Given the description of an element on the screen output the (x, y) to click on. 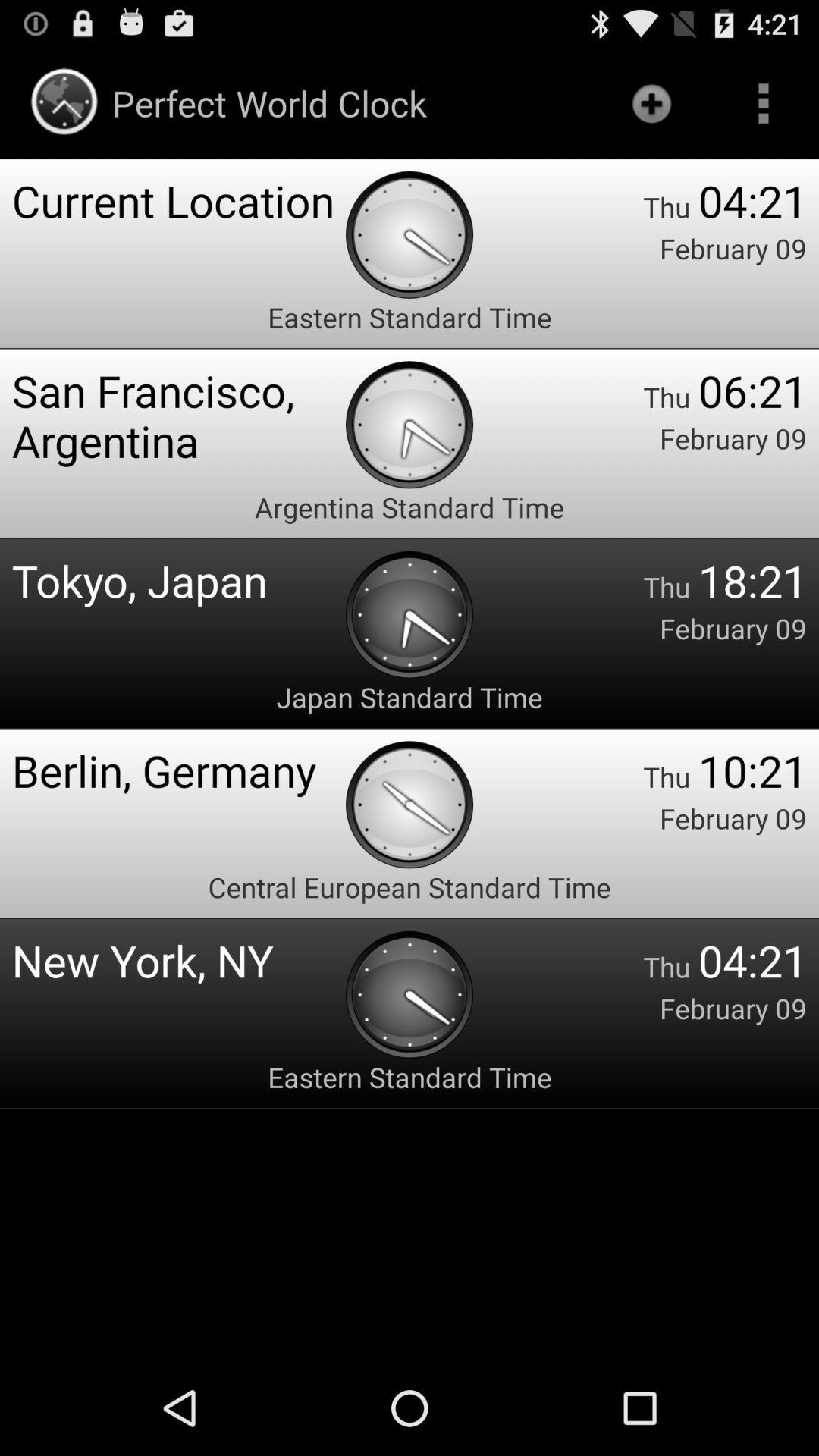
tap app below the central european standard item (178, 960)
